Given the description of an element on the screen output the (x, y) to click on. 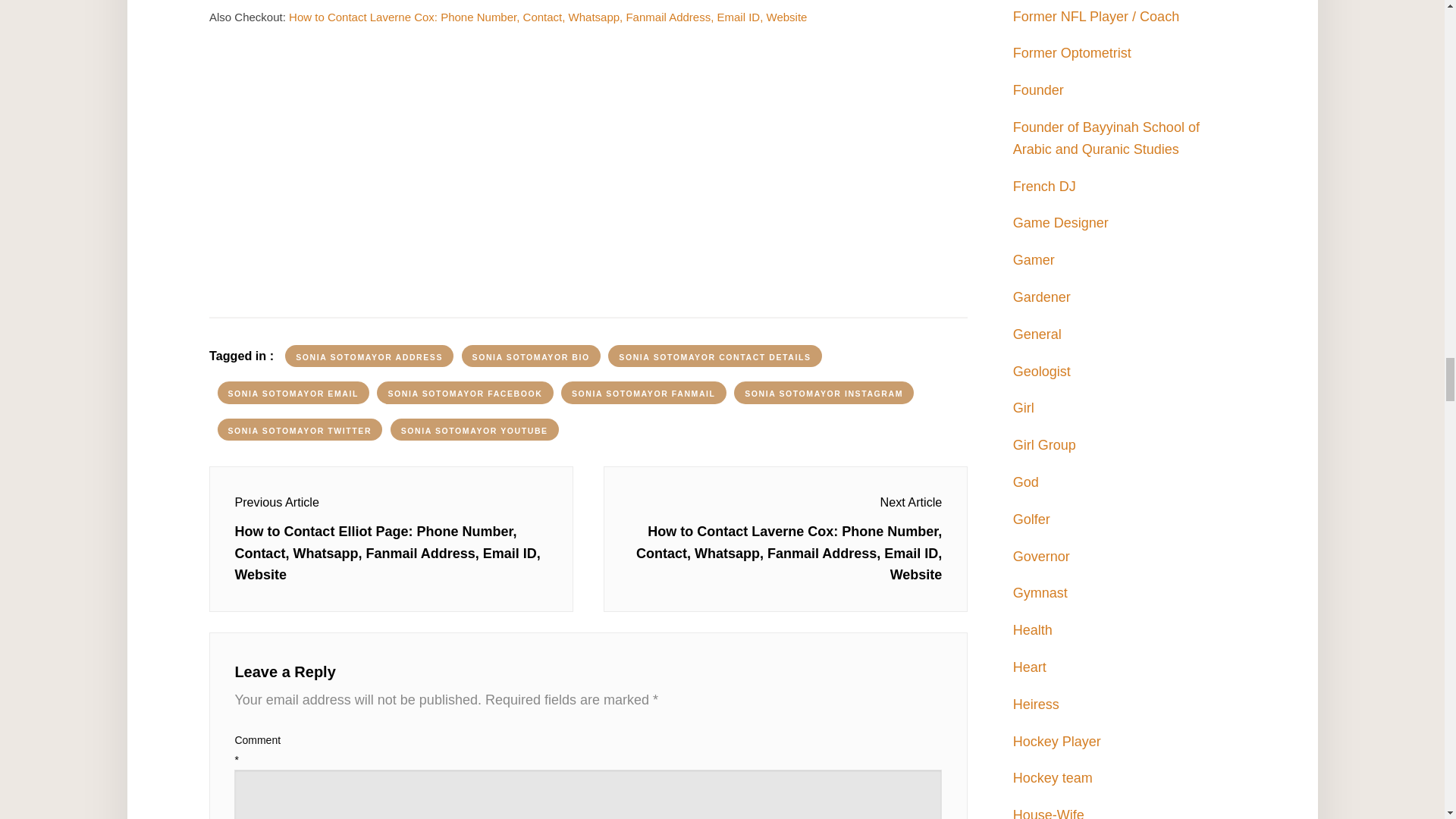
SONIA SOTOMAYOR FACEBOOK (465, 392)
SONIA SOTOMAYOR ADDRESS (368, 355)
SONIA SOTOMAYOR FANMAIL (643, 392)
SONIA SOTOMAYOR EMAIL (292, 392)
YouTube video player (587, 168)
SONIA SOTOMAYOR CONTACT DETAILS (714, 355)
SONIA SOTOMAYOR BIO (530, 355)
SONIA SOTOMAYOR INSTAGRAM (823, 392)
